Given the description of an element on the screen output the (x, y) to click on. 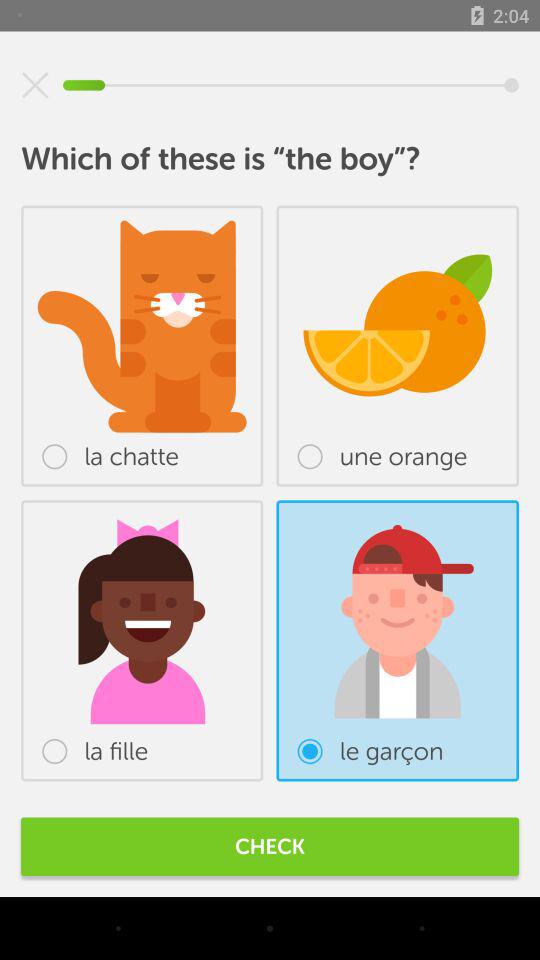
launch item above which of these item (35, 85)
